Given the description of an element on the screen output the (x, y) to click on. 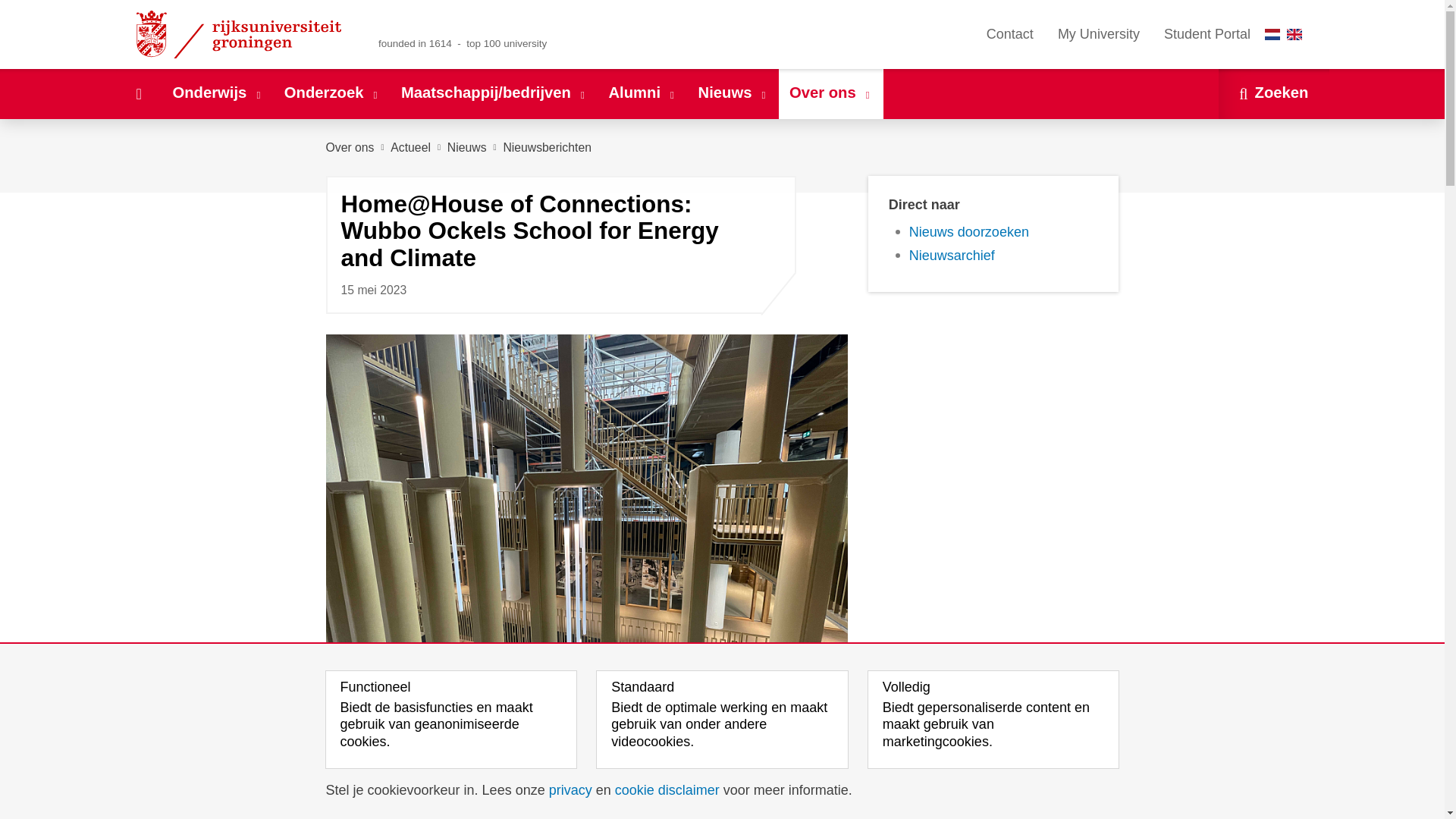
Onderwijs (217, 93)
Onderzoek (331, 93)
Home (138, 93)
Nederlands (1272, 33)
My University (1098, 34)
Rijksuniversiteit Groningen (241, 34)
Student Portal (1206, 34)
English (1293, 33)
Contact (1009, 34)
Taal selectie (1286, 34)
